Given the description of an element on the screen output the (x, y) to click on. 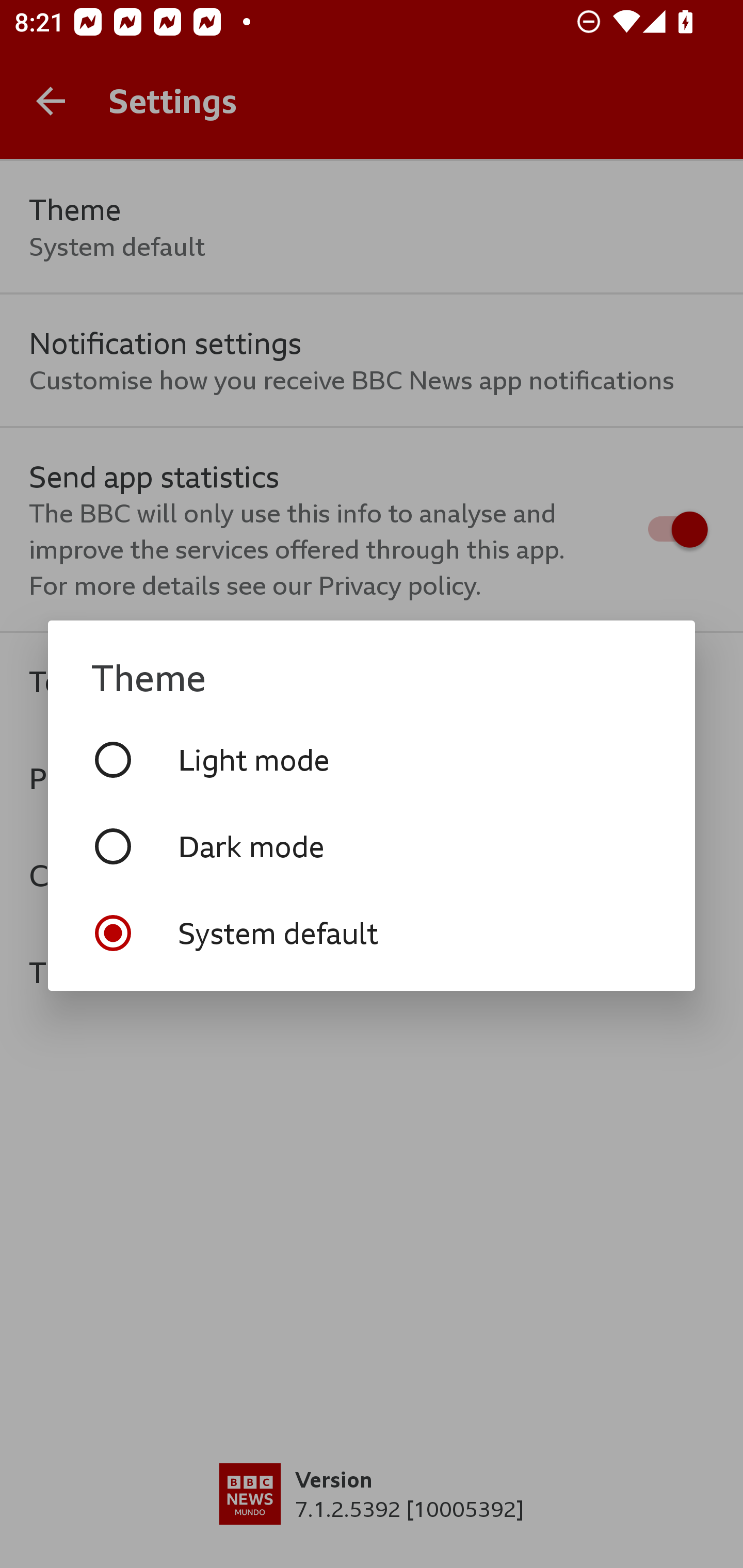
Light mode (371, 759)
Dark mode (371, 845)
System default (371, 932)
